Given the description of an element on the screen output the (x, y) to click on. 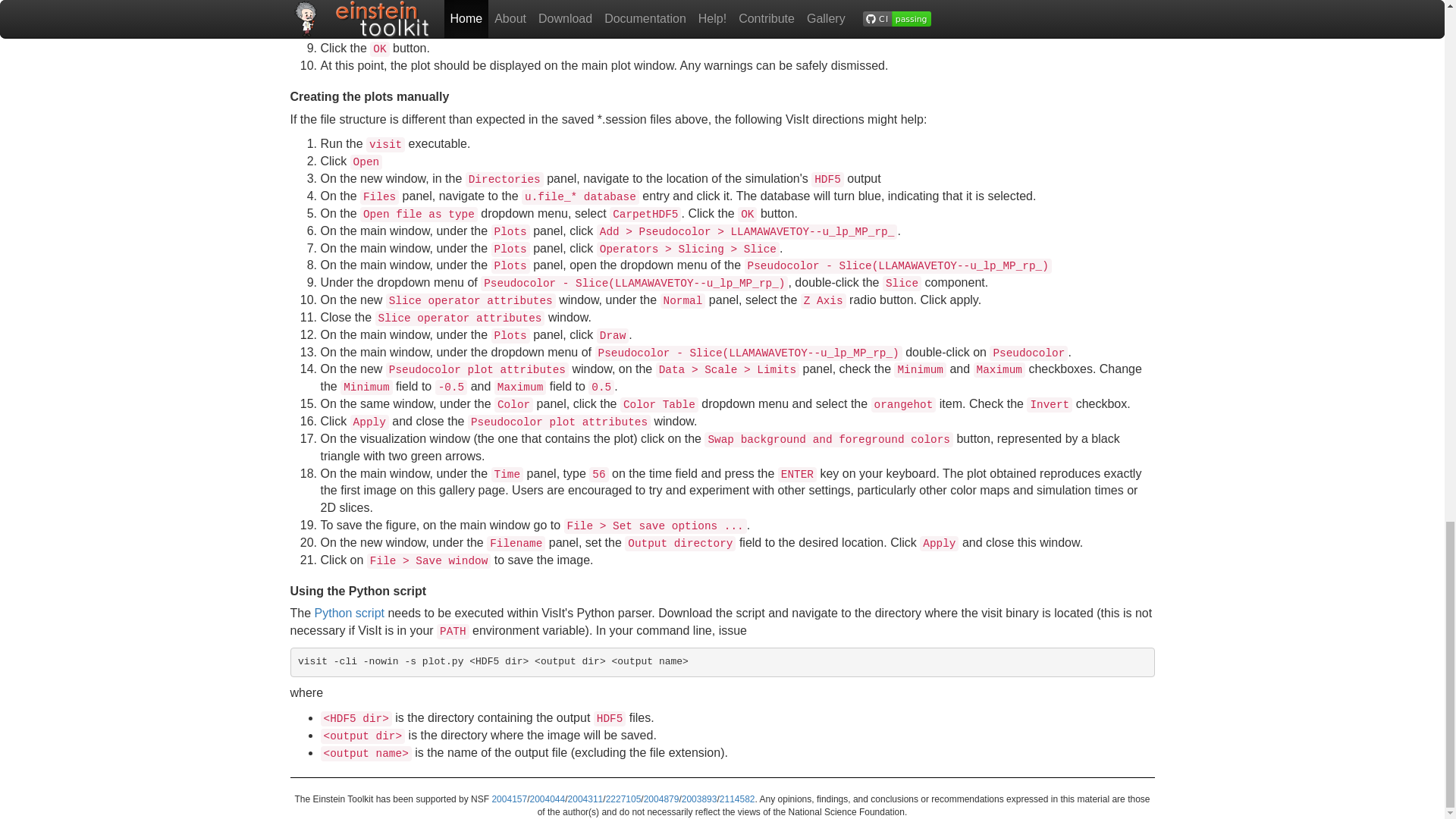
2003893 (699, 798)
2004044 (546, 798)
2004879 (661, 798)
2004157 (509, 798)
Python script (349, 612)
2114582 (737, 798)
2227105 (623, 798)
2004311 (585, 798)
